Given the description of an element on the screen output the (x, y) to click on. 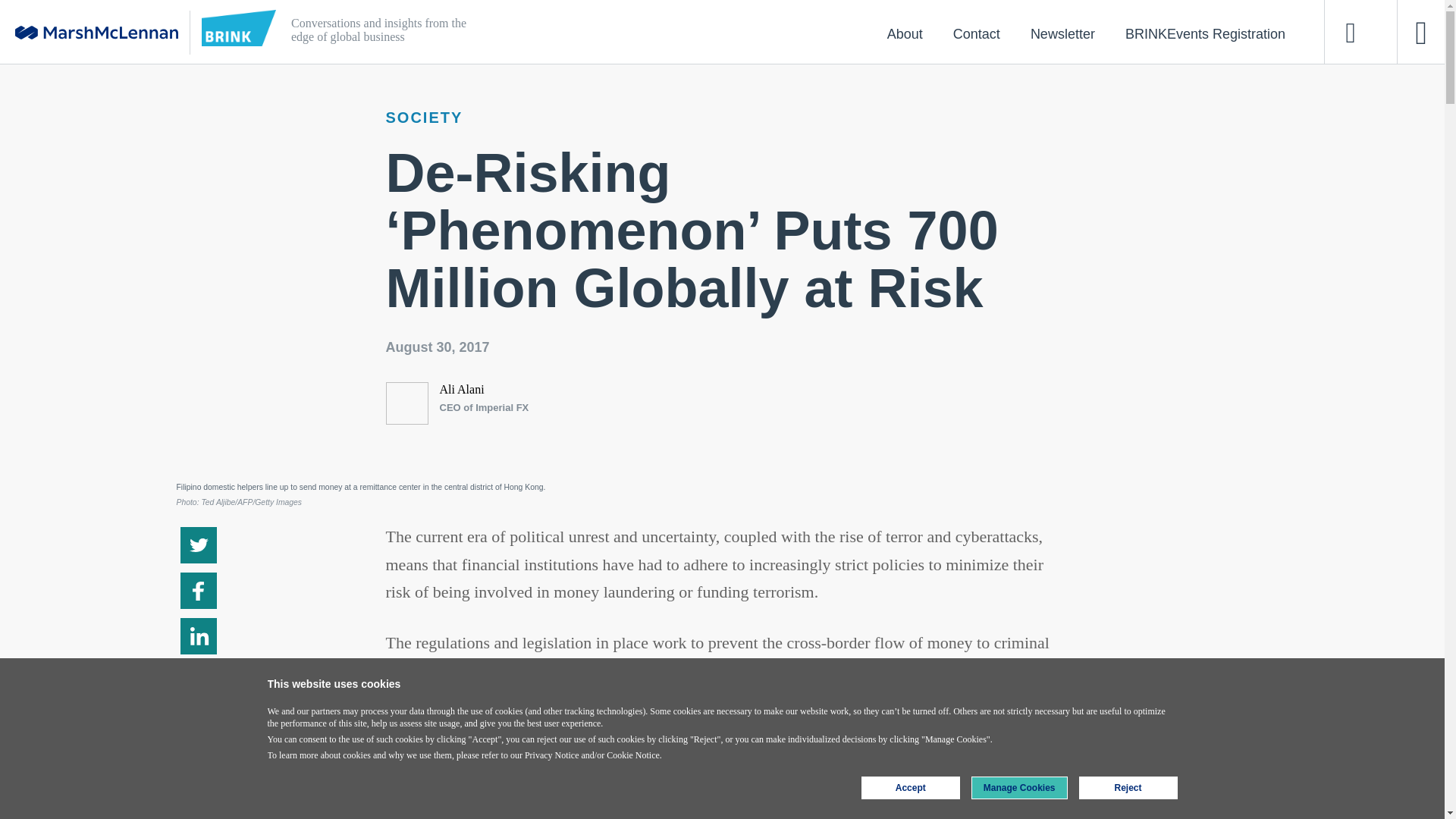
BRINKEvents Registration (1204, 33)
defines de-risking (801, 802)
Conversations and insights from the edge of global business (653, 32)
Newsletter (1061, 33)
Ali Alani (461, 389)
Contact (975, 33)
Financial Action Task Force (509, 774)
SOCIETY (424, 117)
About (904, 33)
